Given the description of an element on the screen output the (x, y) to click on. 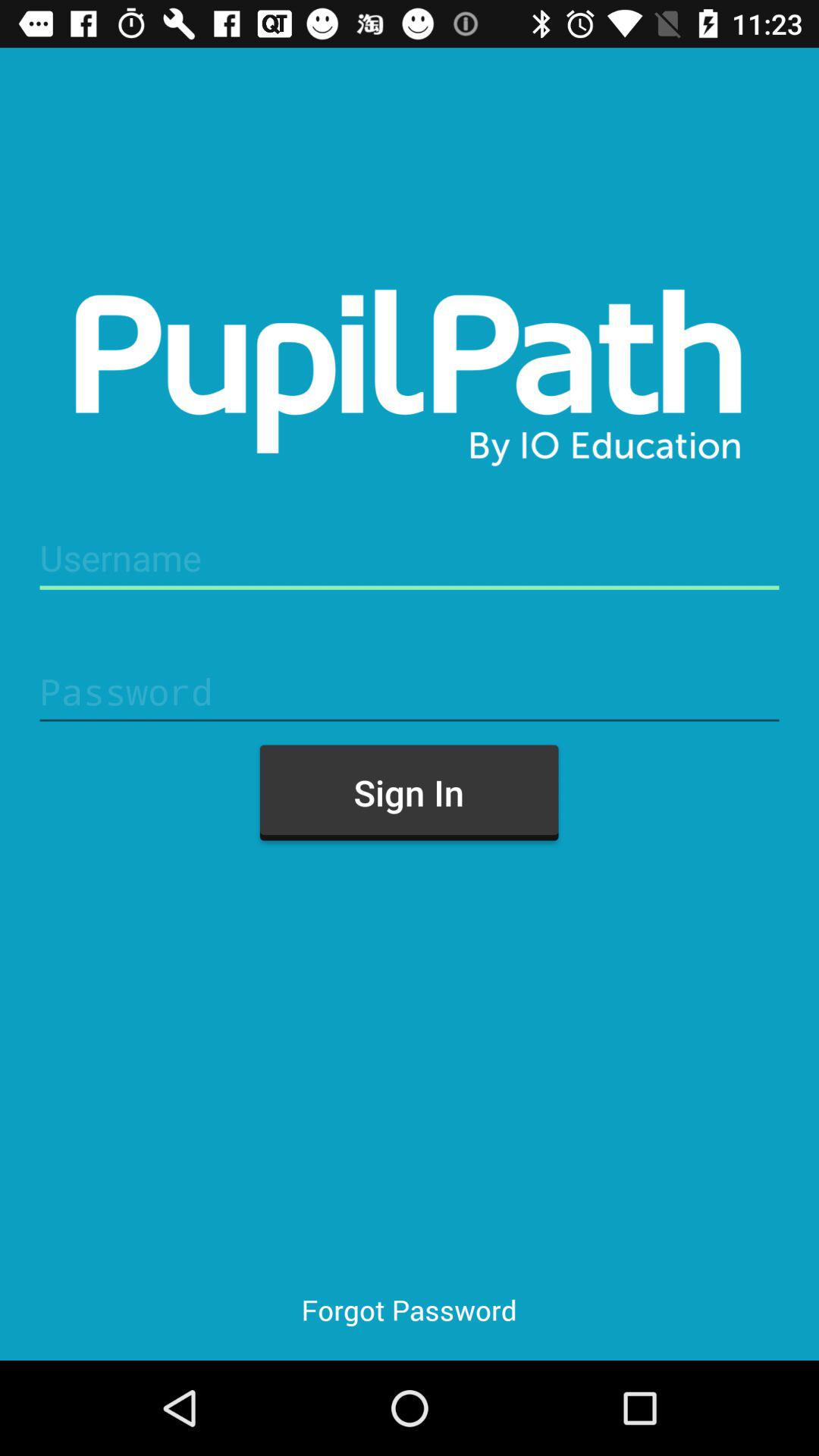
select sign in (408, 792)
